Given the description of an element on the screen output the (x, y) to click on. 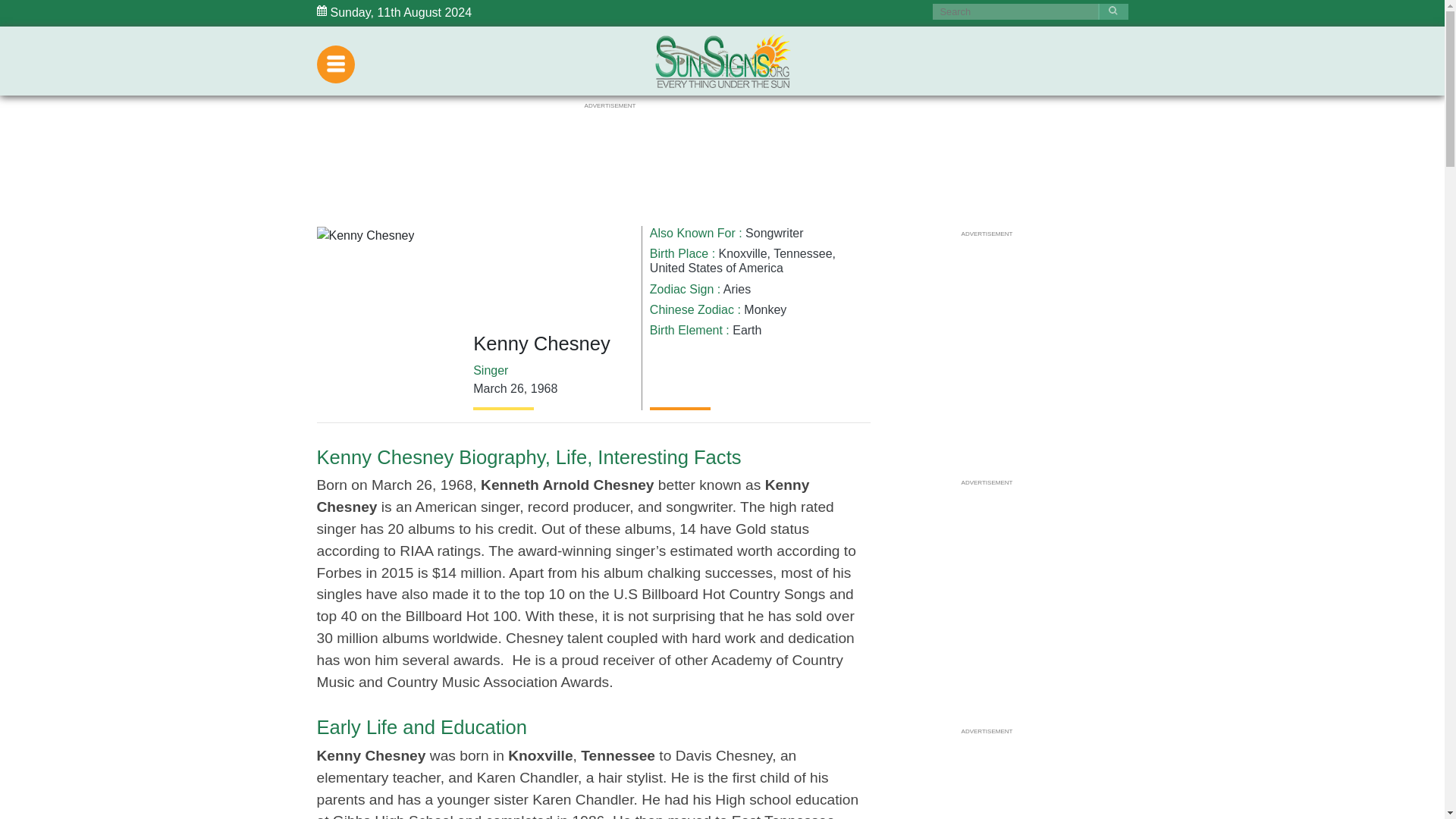
Aries (737, 288)
Chinese Zodiac (691, 309)
Monkey (765, 309)
Songwriter (774, 232)
March 26 (498, 388)
Knoxville (743, 253)
Singer (490, 369)
1968 (544, 388)
Tennessee (802, 253)
United States of America (716, 267)
